Given the description of an element on the screen output the (x, y) to click on. 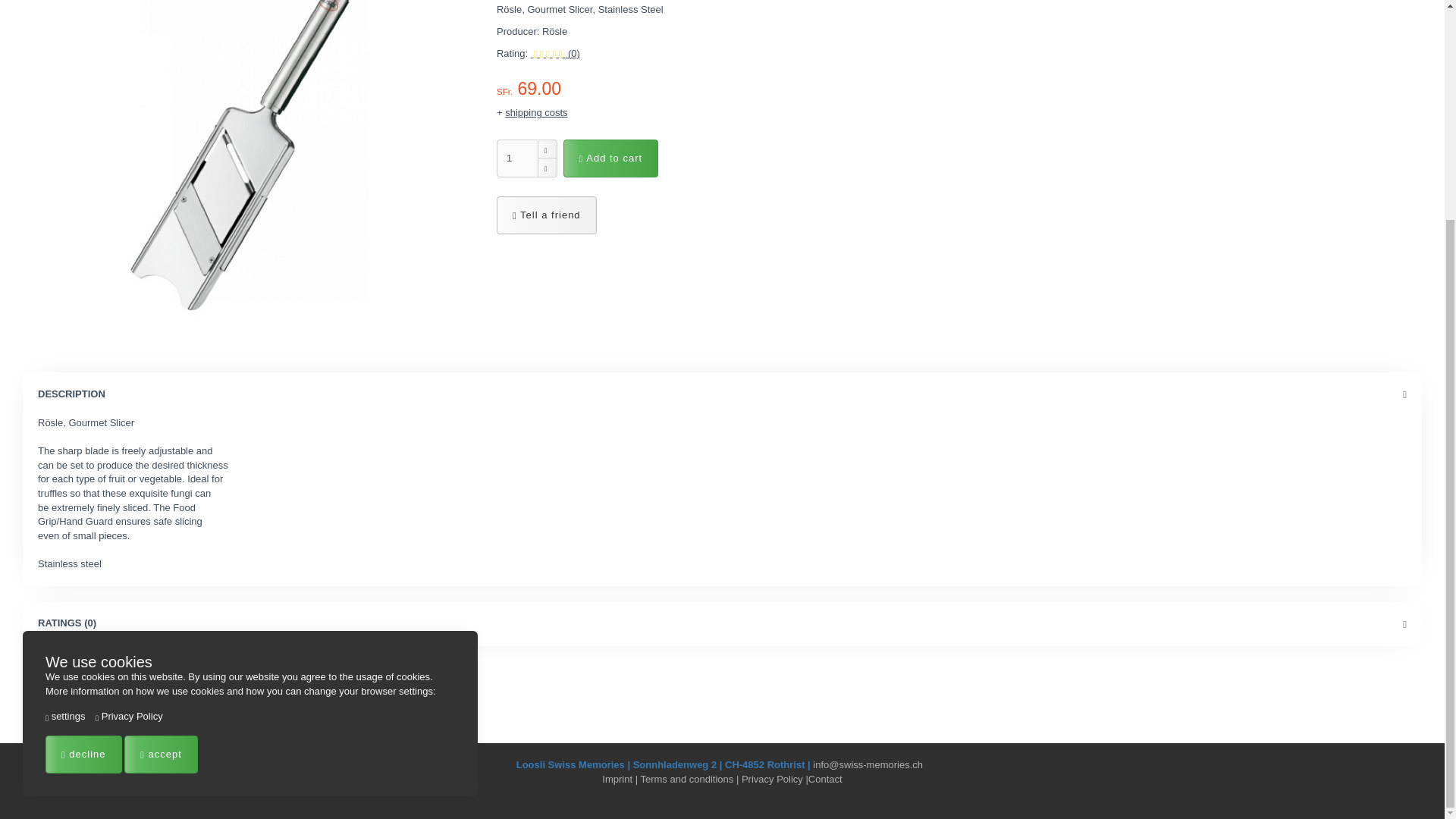
settings (64, 425)
accept (160, 463)
Privacy Policy (129, 425)
decline (83, 463)
Quantity (517, 158)
1 (517, 158)
